Given the description of an element on the screen output the (x, y) to click on. 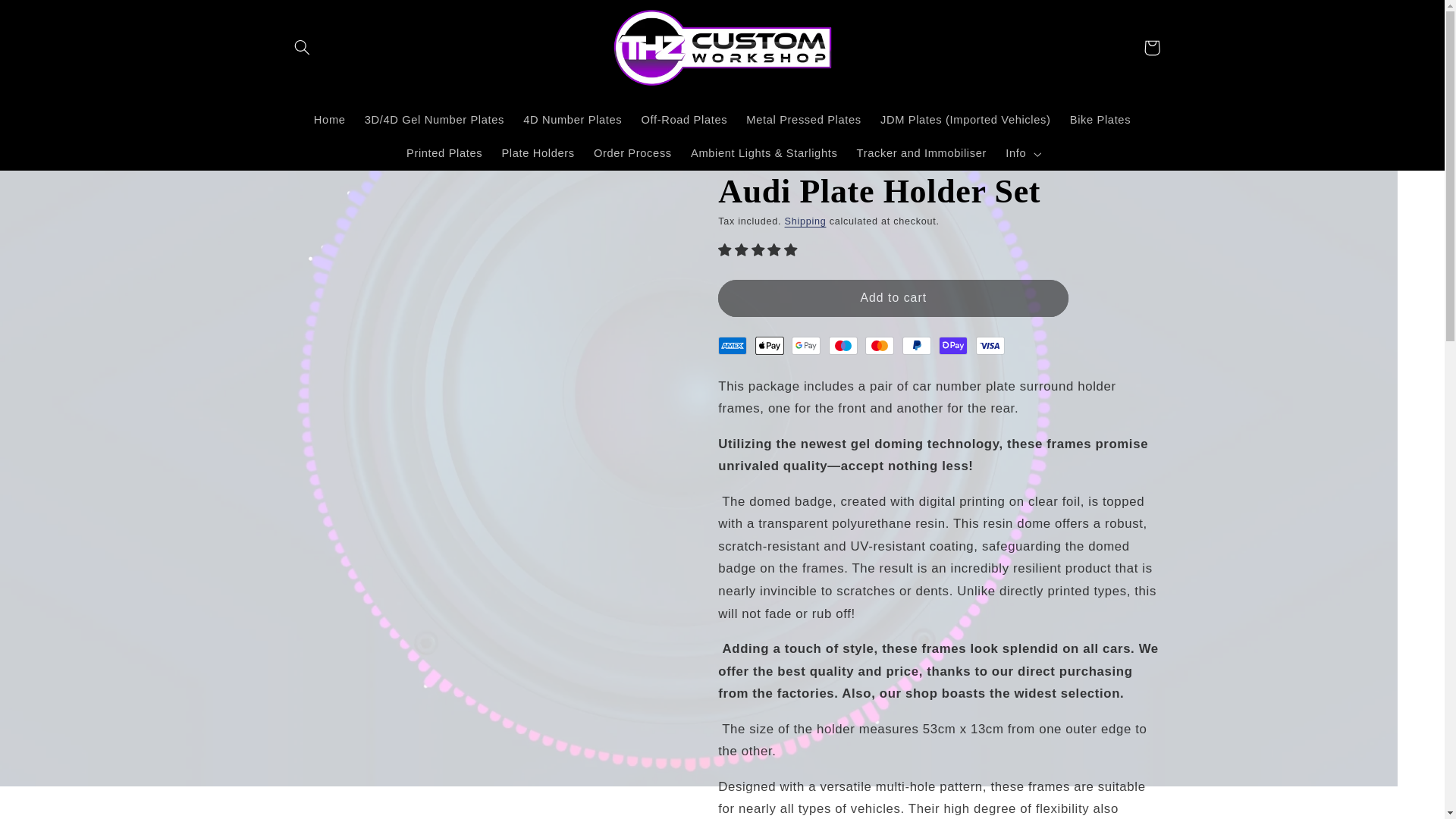
Tracker and Immobiliser (921, 153)
Printed Plates (444, 153)
Metal Pressed Plates (803, 120)
Plate Holders (538, 153)
Order Process (632, 153)
Skip to content (48, 18)
Bike Plates (1099, 120)
Home (329, 120)
Off-Road Plates (683, 120)
4D Number Plates (572, 120)
